Given the description of an element on the screen output the (x, y) to click on. 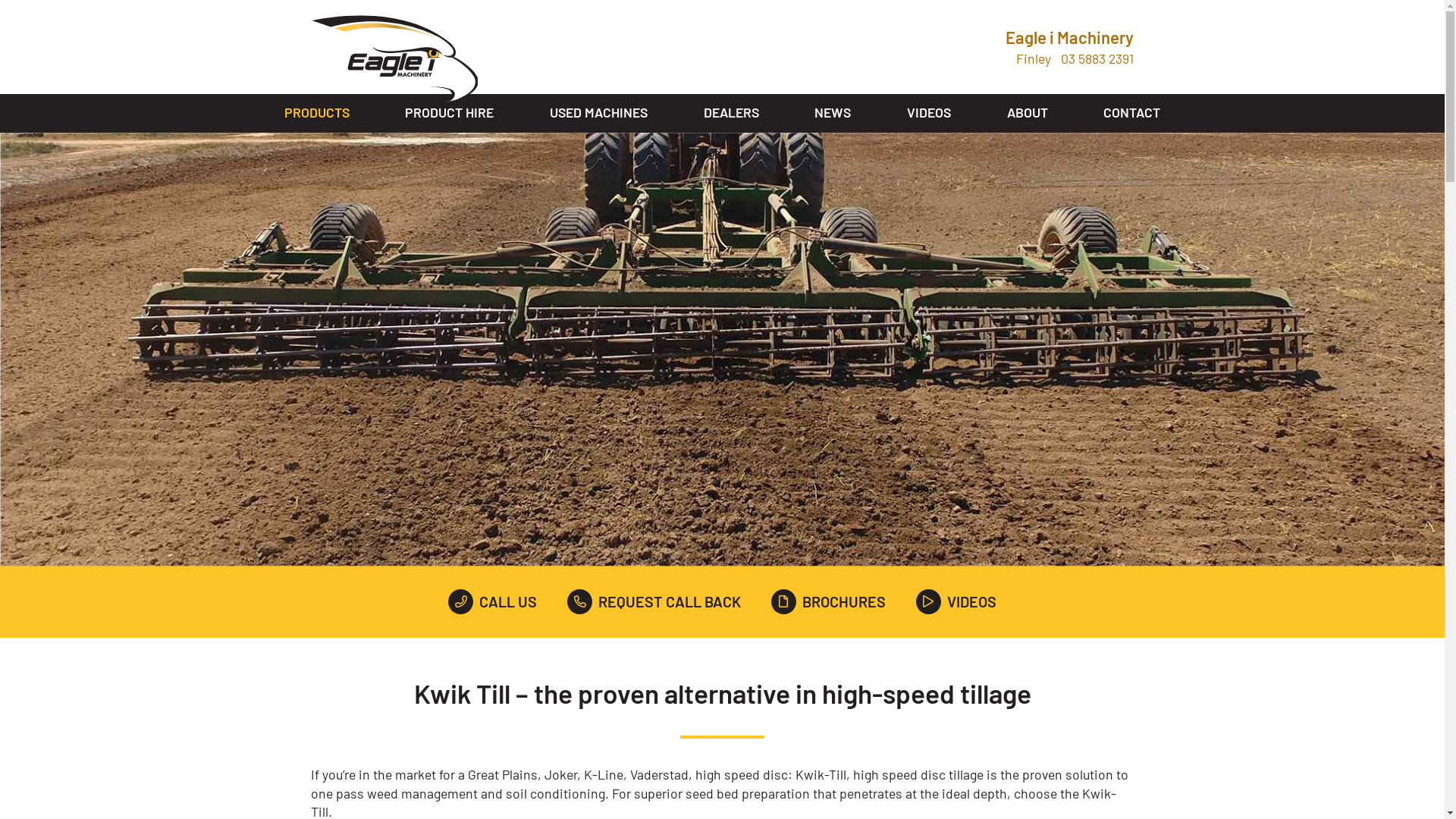
PRODUCTS Element type: text (316, 113)
PRODUCT HIRE Element type: text (448, 113)
USED MACHINES Element type: text (598, 113)
Request Call Back Element type: text (526, 580)
CONTACT Element type: text (1131, 113)
ABOUT Element type: text (1027, 113)
BROCHURES Element type: text (828, 601)
VIDEOS Element type: text (928, 113)
NEWS Element type: text (832, 113)
CALL US Element type: text (492, 601)
Eagle i - Slider 04 Element type: hover (722, 349)
03 5883 2391 Element type: text (1096, 58)
VIDEOS Element type: text (955, 601)
DEALERS Element type: text (731, 113)
